Given the description of an element on the screen output the (x, y) to click on. 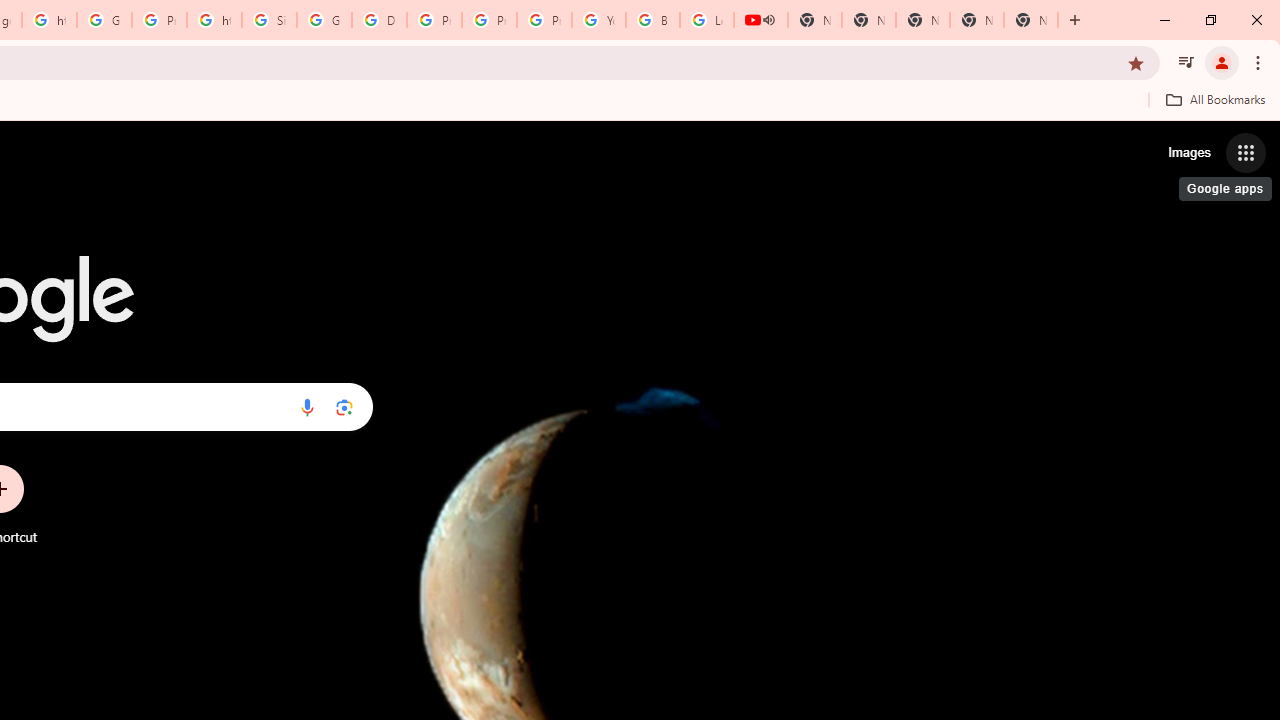
https://scholar.google.com/ (213, 20)
Control your music, videos, and more (1185, 62)
New Tab (1075, 20)
Restore (1210, 20)
All Bookmarks (1215, 99)
Sign in - Google Accounts (268, 20)
YouTube (598, 20)
Mute tab (768, 20)
Chrome (1260, 62)
Close (1256, 20)
Browse Chrome as a guest - Computer - Google Chrome Help (652, 20)
